Given the description of an element on the screen output the (x, y) to click on. 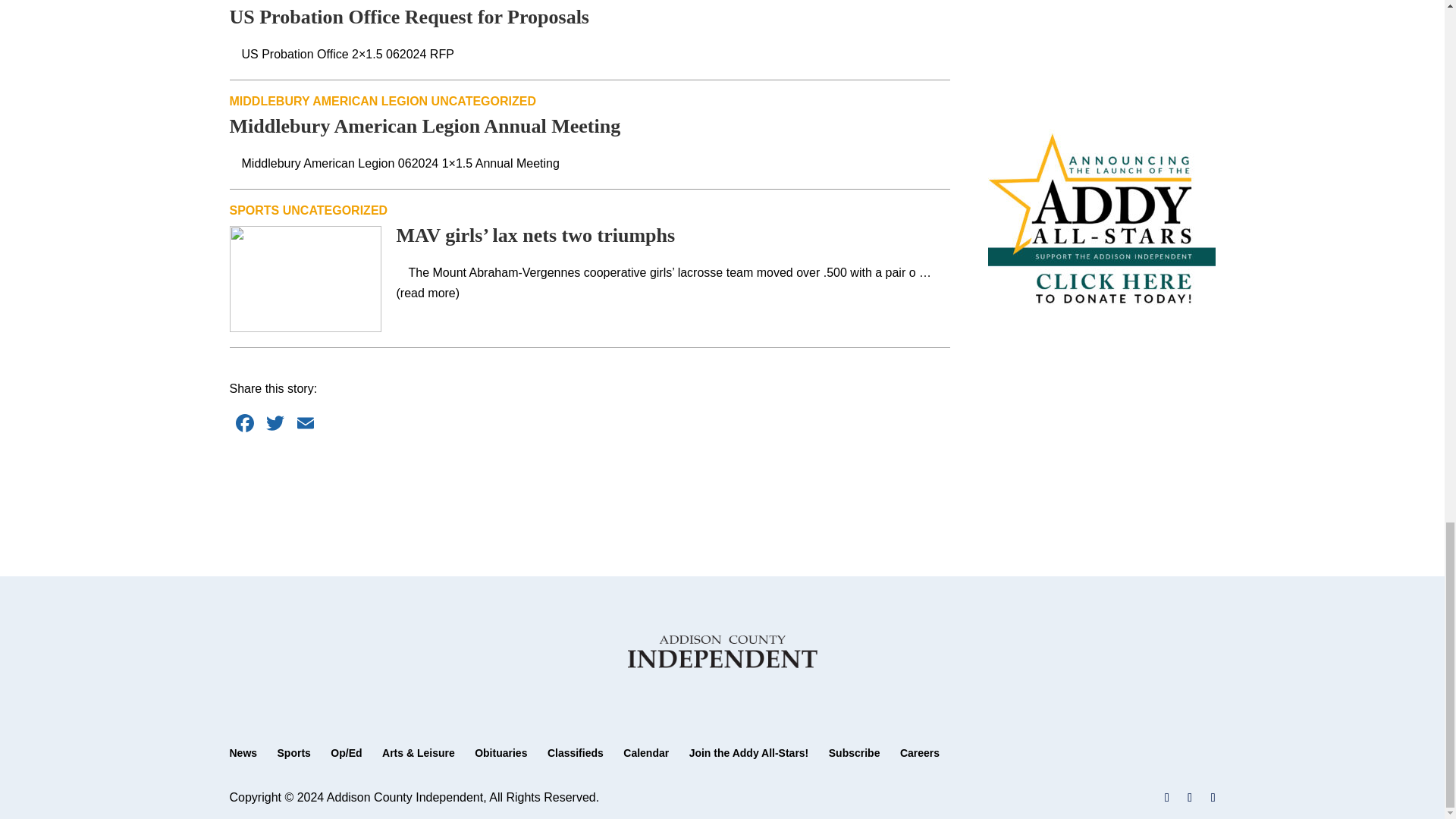
Facebook (243, 424)
3rd party ad content (590, 485)
Email (304, 424)
3rd party ad content (1100, 49)
Twitter (274, 424)
